Given the description of an element on the screen output the (x, y) to click on. 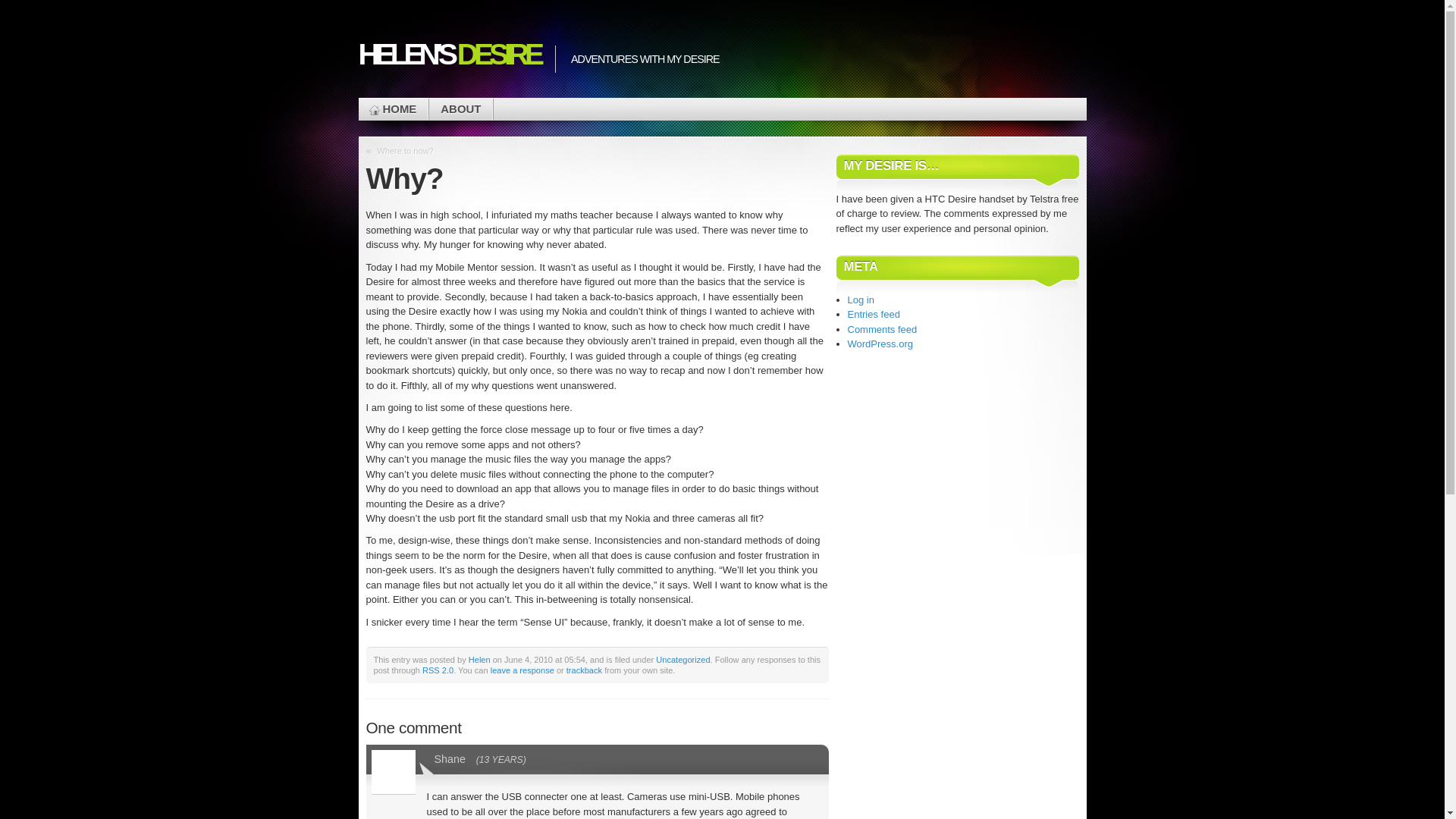
ABOUT Element type: text (460, 109)
Comments feed Element type: text (882, 328)
HELEN'S DESIRE Element type: text (448, 54)
trackback Element type: text (584, 669)
leave a response Element type: text (522, 669)
HOME Element type: text (392, 109)
Entries feed Element type: text (873, 314)
Log in Element type: text (860, 299)
Where to now? Element type: text (404, 150)
Uncategorized Element type: text (682, 659)
RSS 2.0 Element type: text (437, 669)
Helen Element type: text (479, 659)
WordPress.org Element type: text (880, 343)
